Given the description of an element on the screen output the (x, y) to click on. 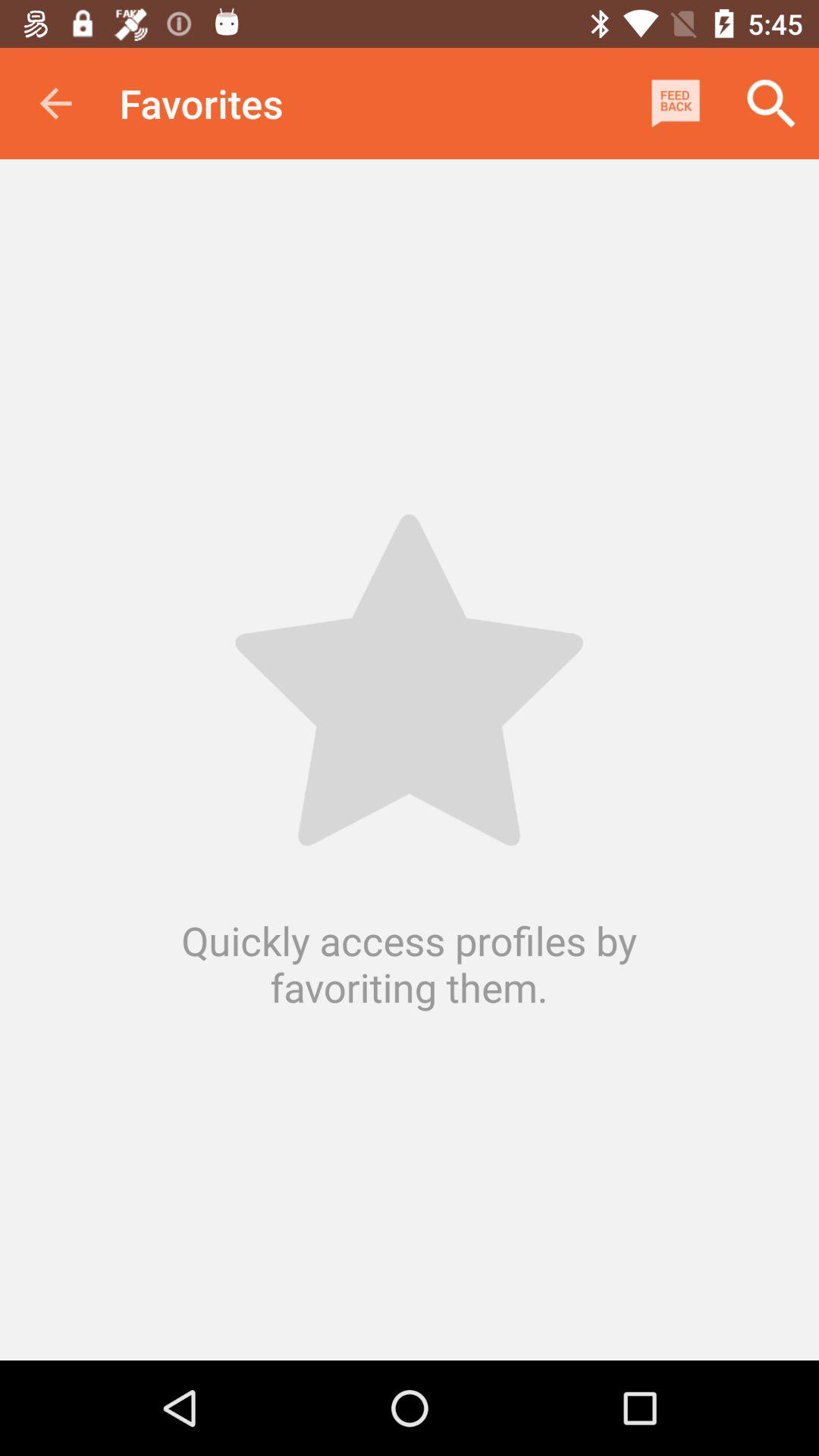
press app to the left of favorites item (55, 103)
